Given the description of an element on the screen output the (x, y) to click on. 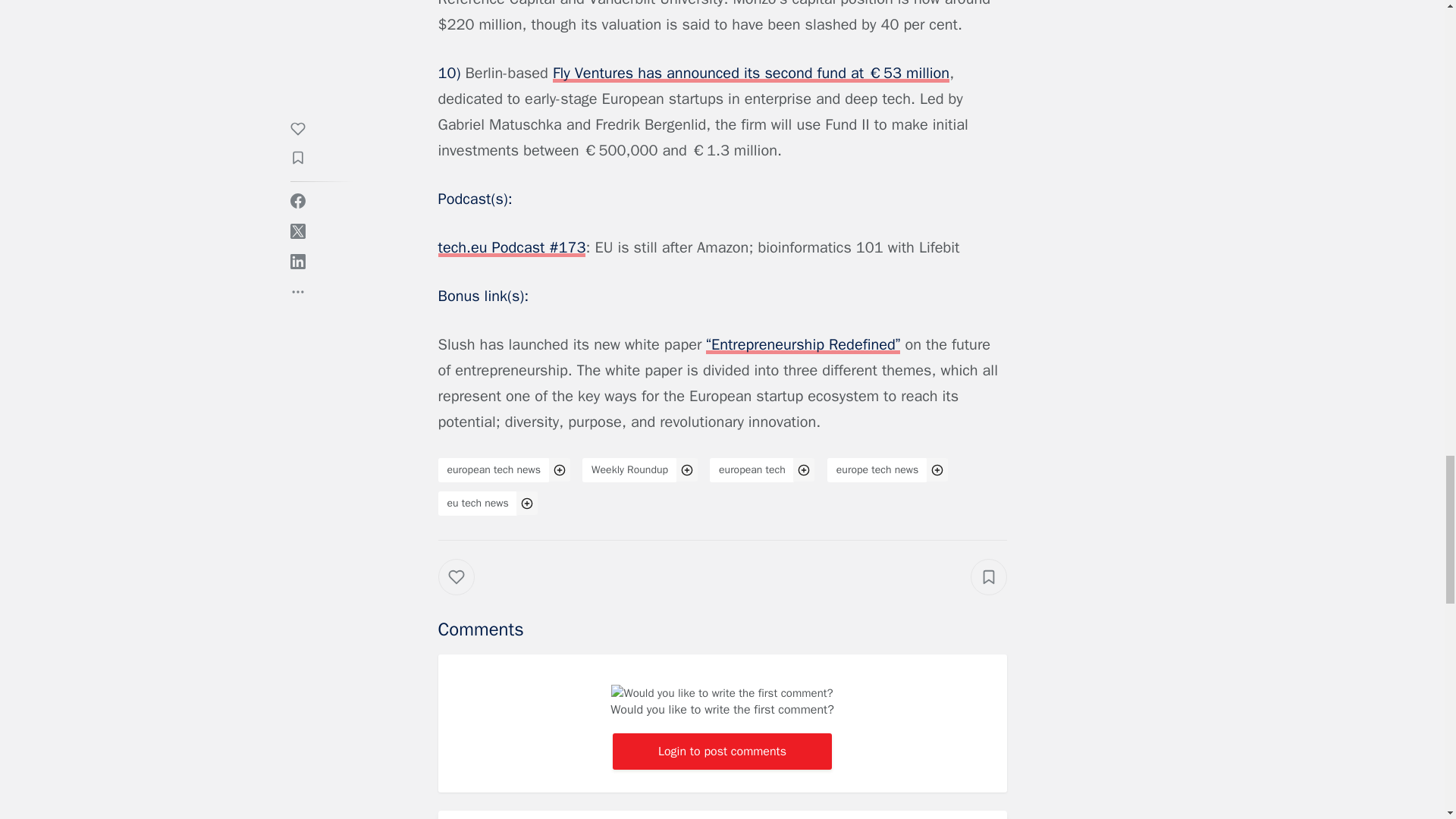
Add to collection (989, 576)
european tech news (494, 469)
eu tech news (478, 503)
Weekly Roundup (629, 469)
Like (467, 591)
european tech (752, 469)
europe tech news (877, 469)
